Given the description of an element on the screen output the (x, y) to click on. 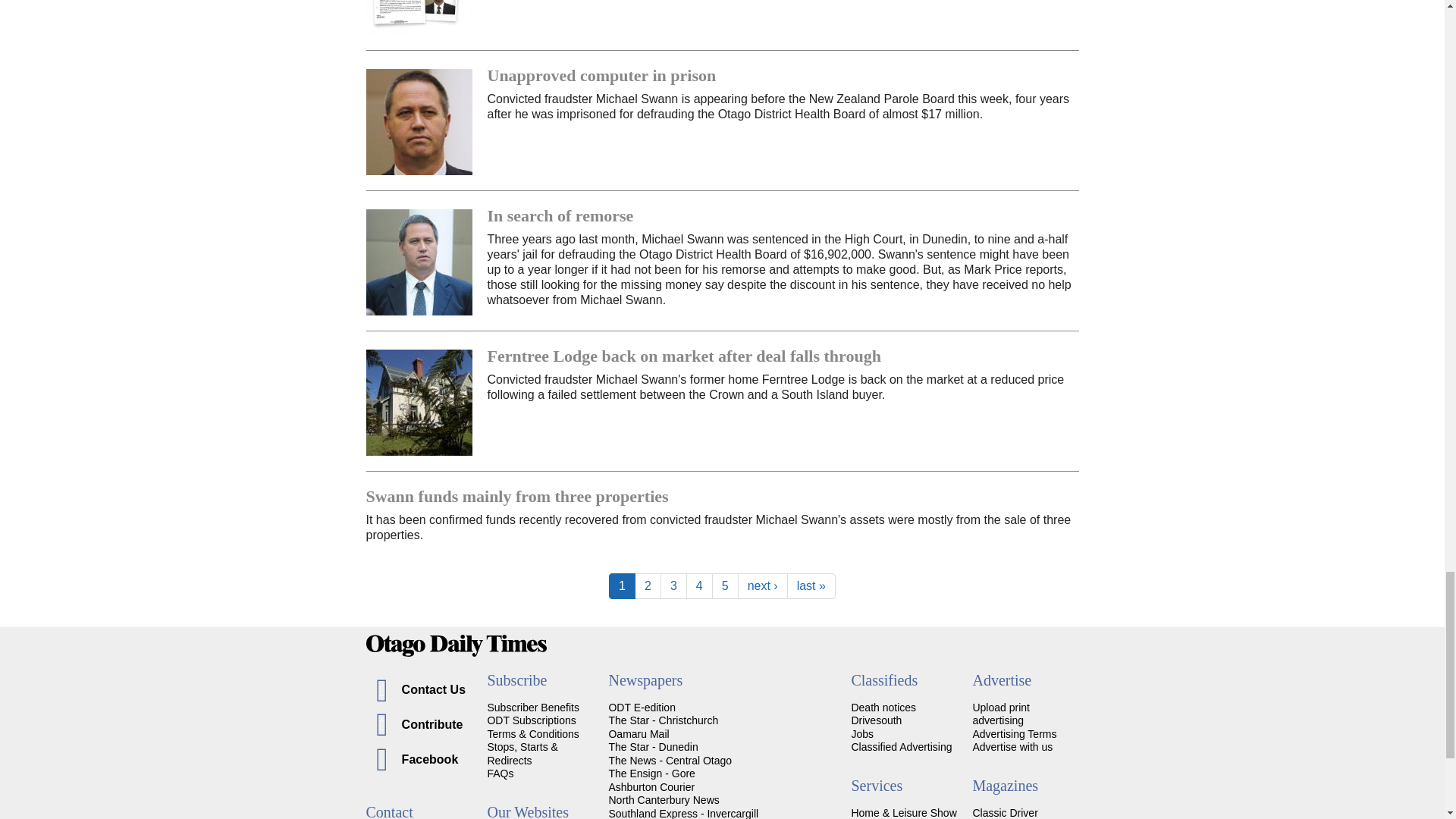
Go to next page (762, 585)
Go to page 2 (647, 585)
Go to page 4 (699, 585)
Home (721, 645)
Ways to subscribe to the Otago Daily Times (530, 720)
Go to last page (811, 585)
Go to page 3 (674, 585)
Go to page 5 (724, 585)
Get the ODT delivered right to you! (532, 707)
